Given the description of an element on the screen output the (x, y) to click on. 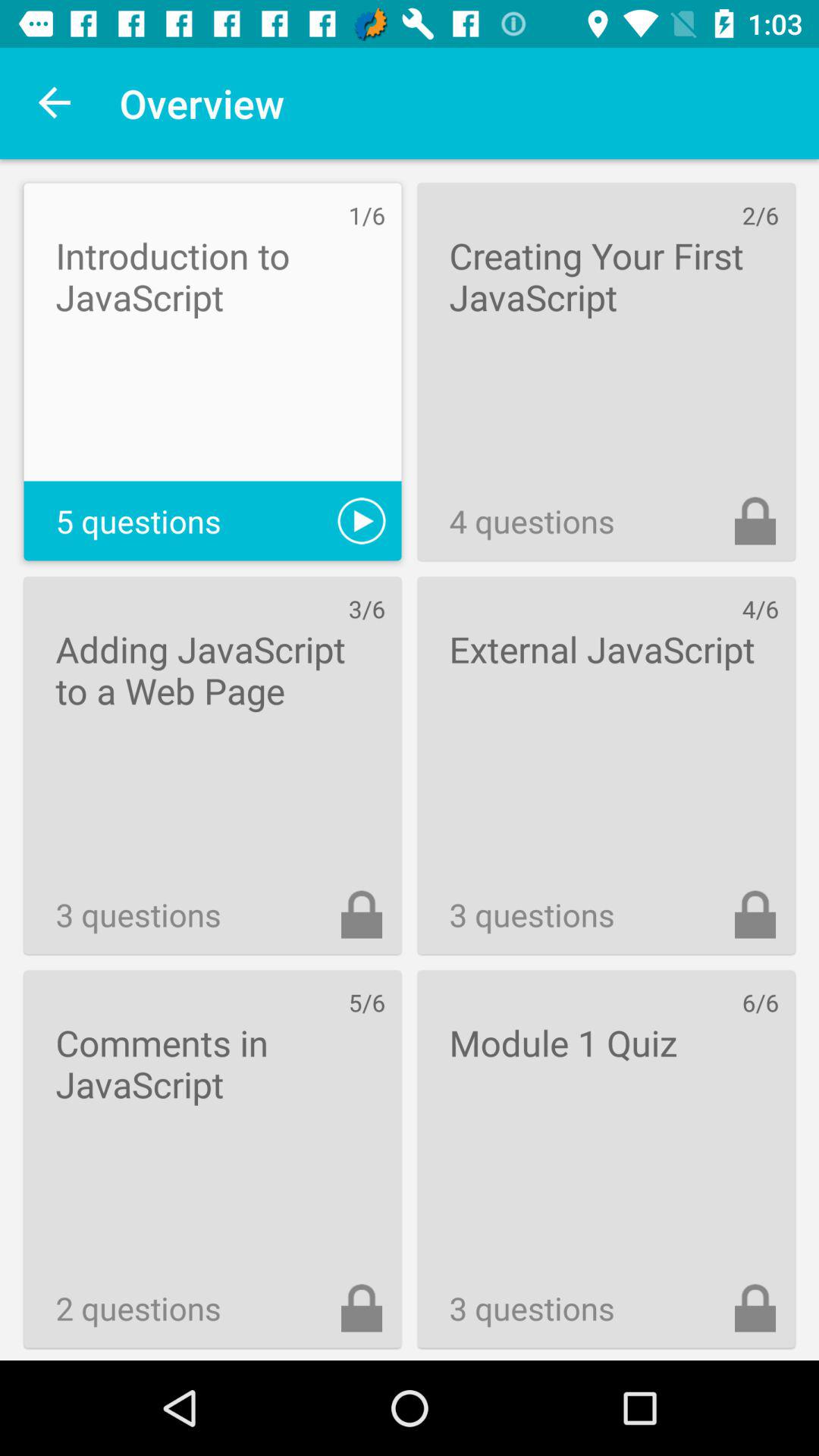
launch the icon above introduction to javascript icon (55, 103)
